Given the description of an element on the screen output the (x, y) to click on. 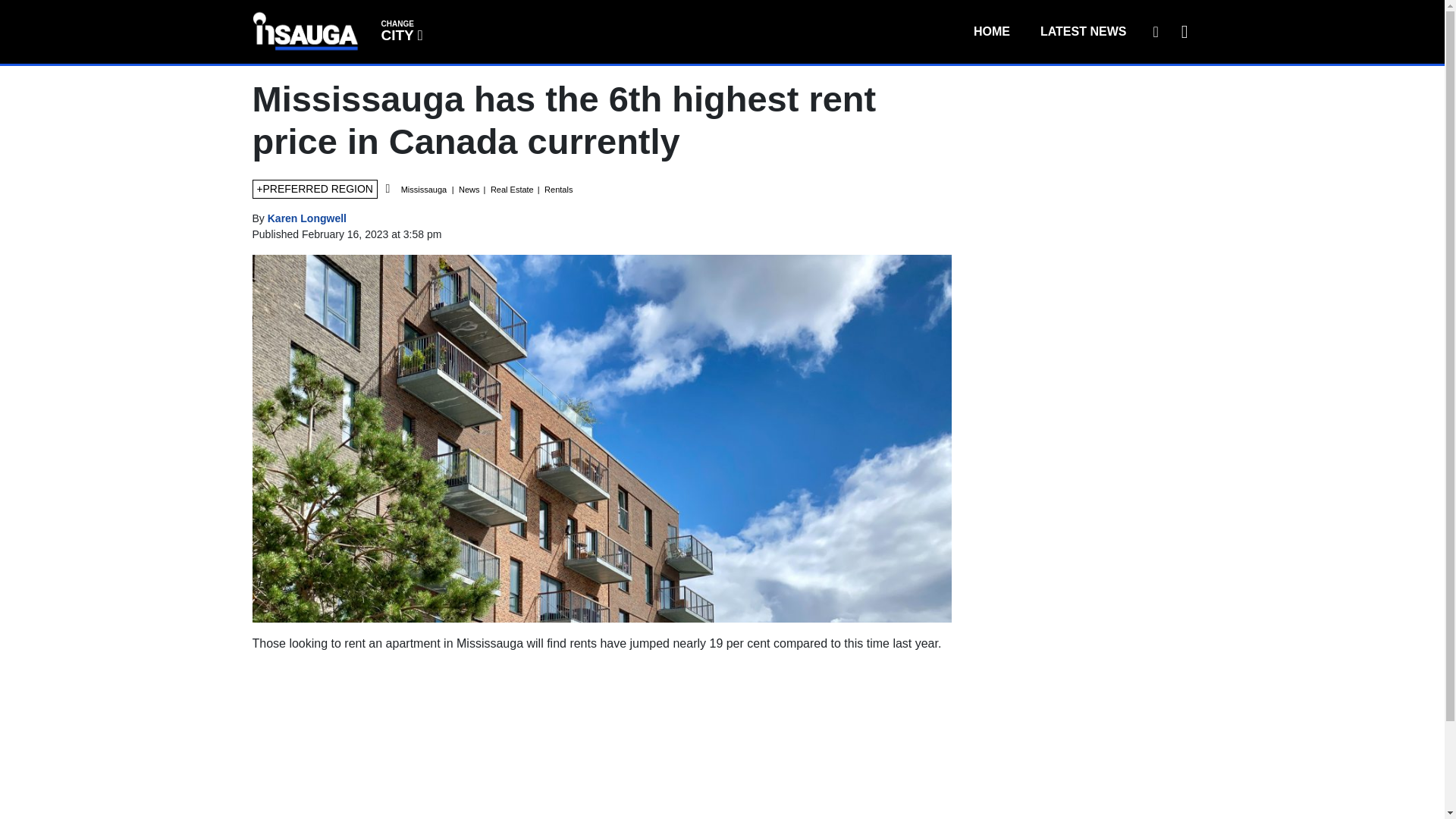
Posts by 959 (306, 218)
SIGN UP FOR OUR NEWSLETTER (1155, 31)
HOME (400, 30)
LATEST NEWS (991, 31)
